Given the description of an element on the screen output the (x, y) to click on. 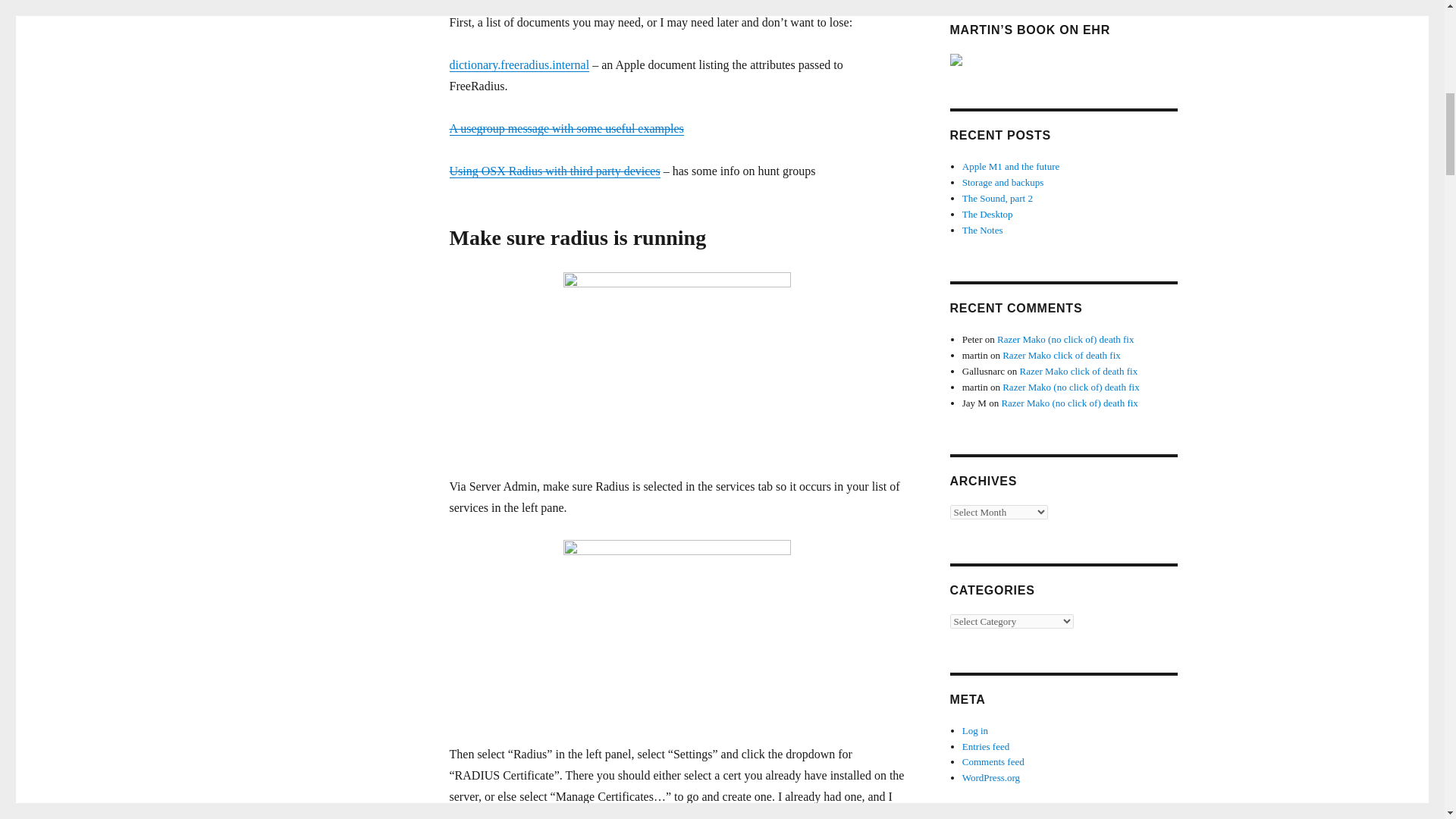
The Desktop (987, 214)
Server AdminScreenSnapz004 (676, 363)
Apple M1 and the future (1010, 165)
CAcert (549, 815)
Using OSX Radius with third party devices (553, 170)
A usegroup message with some useful examples (565, 128)
Server AdminScreenSnapz005 (676, 630)
dictionary.freeradius.internal (518, 64)
Storage and backups (1002, 182)
The Notes (982, 229)
